Given the description of an element on the screen output the (x, y) to click on. 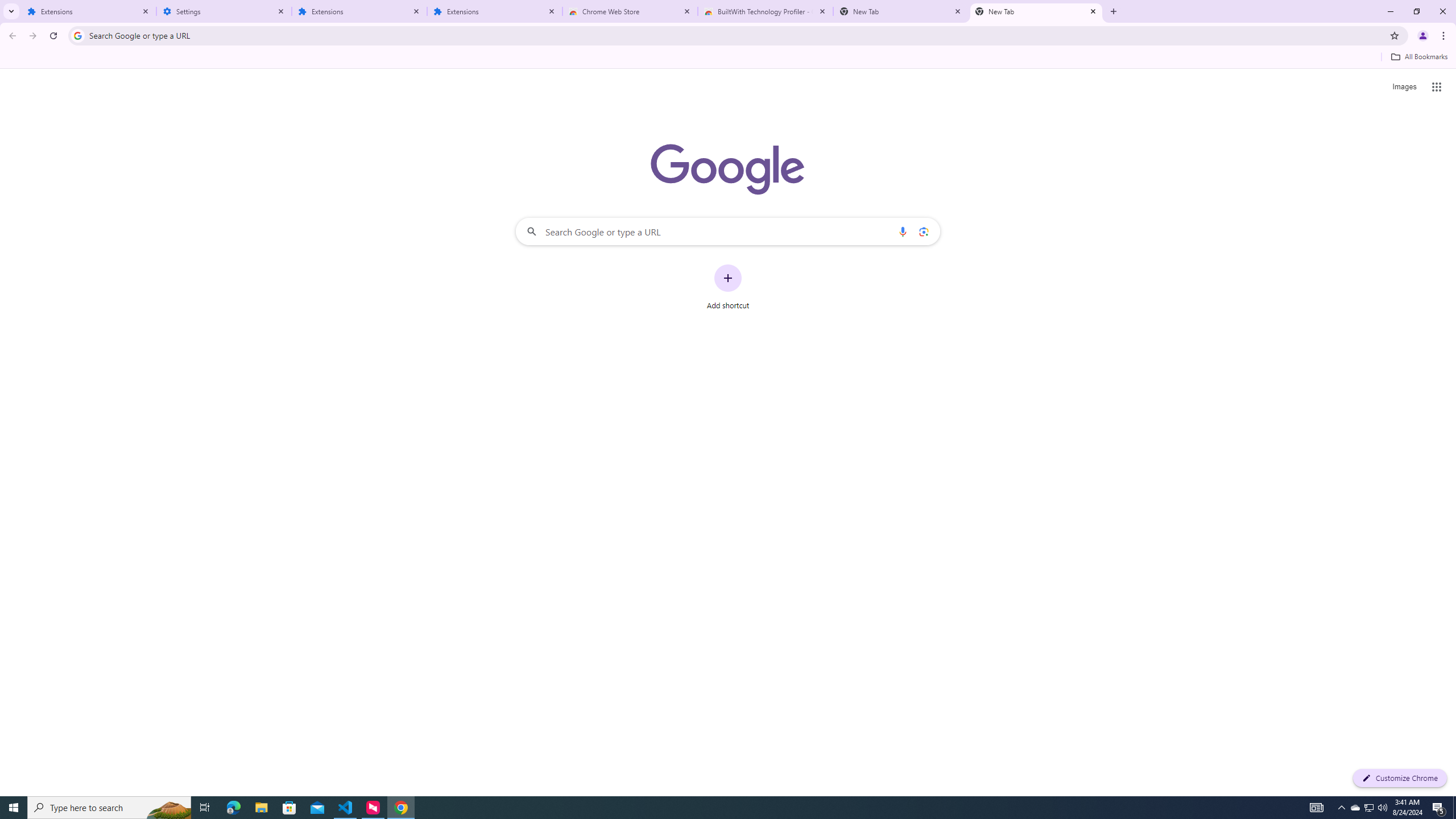
New Tab (901, 11)
BuiltWith Technology Profiler - Chrome Web Store (765, 11)
Search icon (77, 35)
Search by image (922, 230)
